Given the description of an element on the screen output the (x, y) to click on. 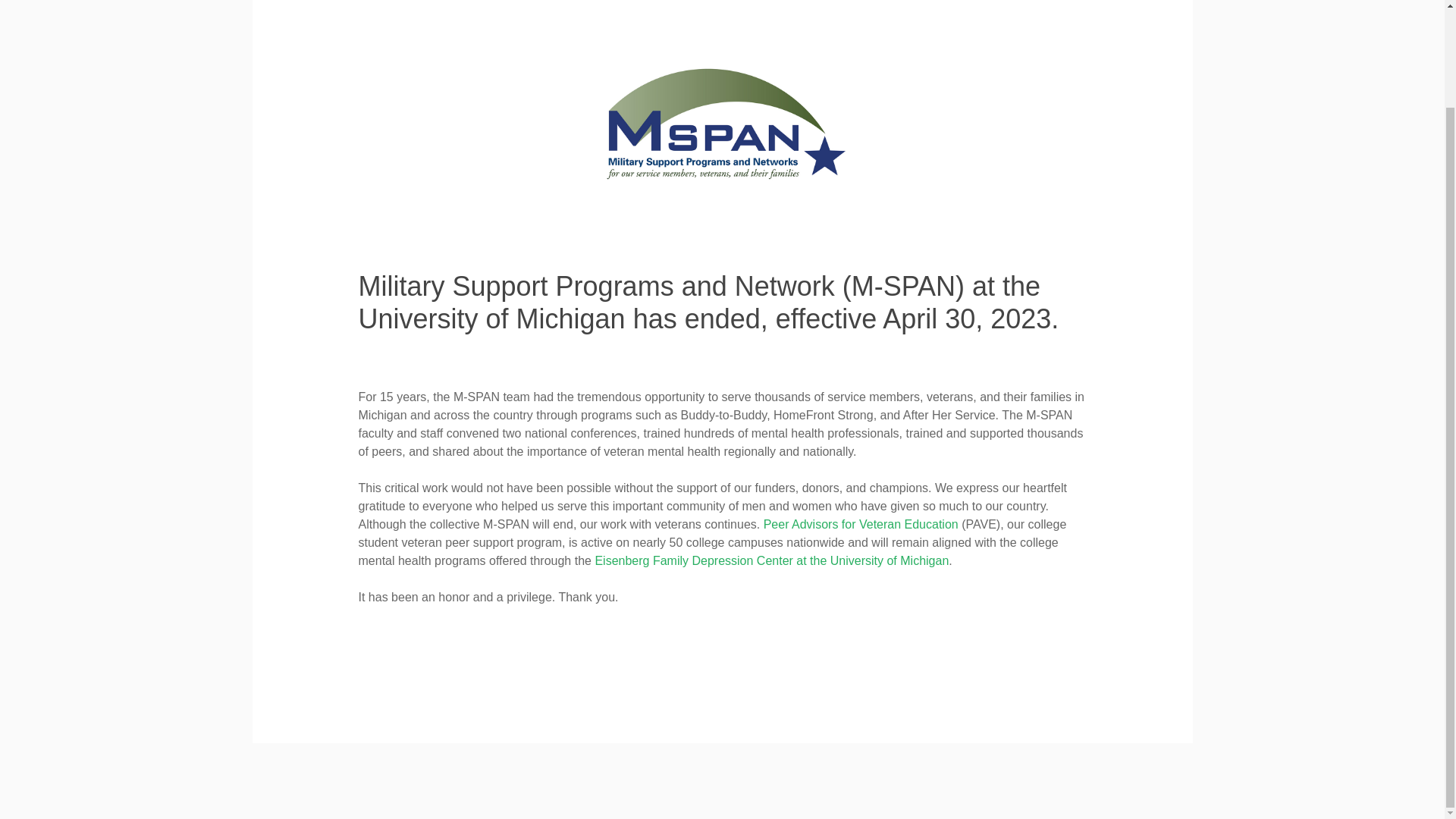
Peer Advisors for Veteran Education (860, 523)
